Given the description of an element on the screen output the (x, y) to click on. 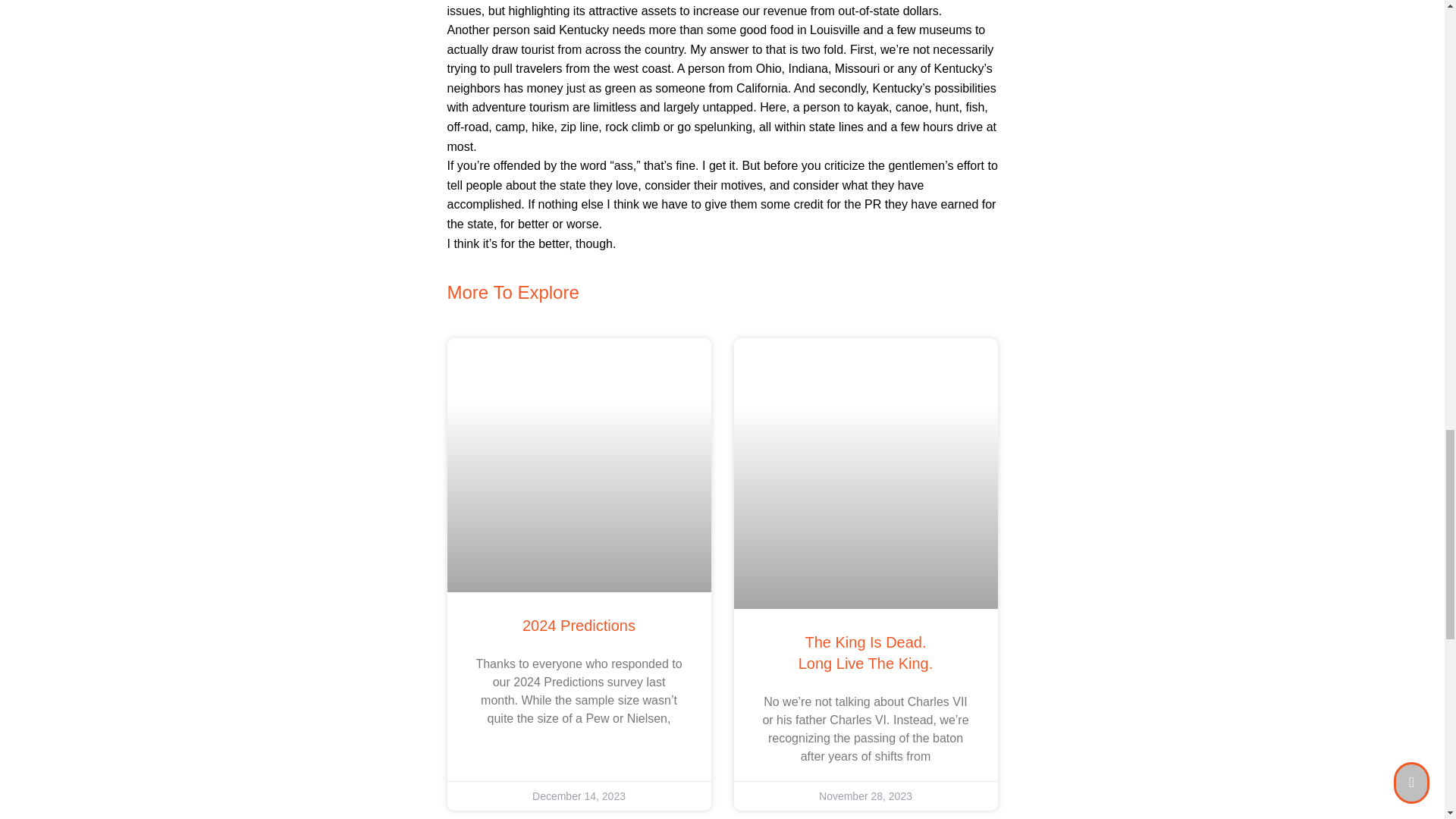
2024 Predictions (865, 652)
